Given the description of an element on the screen output the (x, y) to click on. 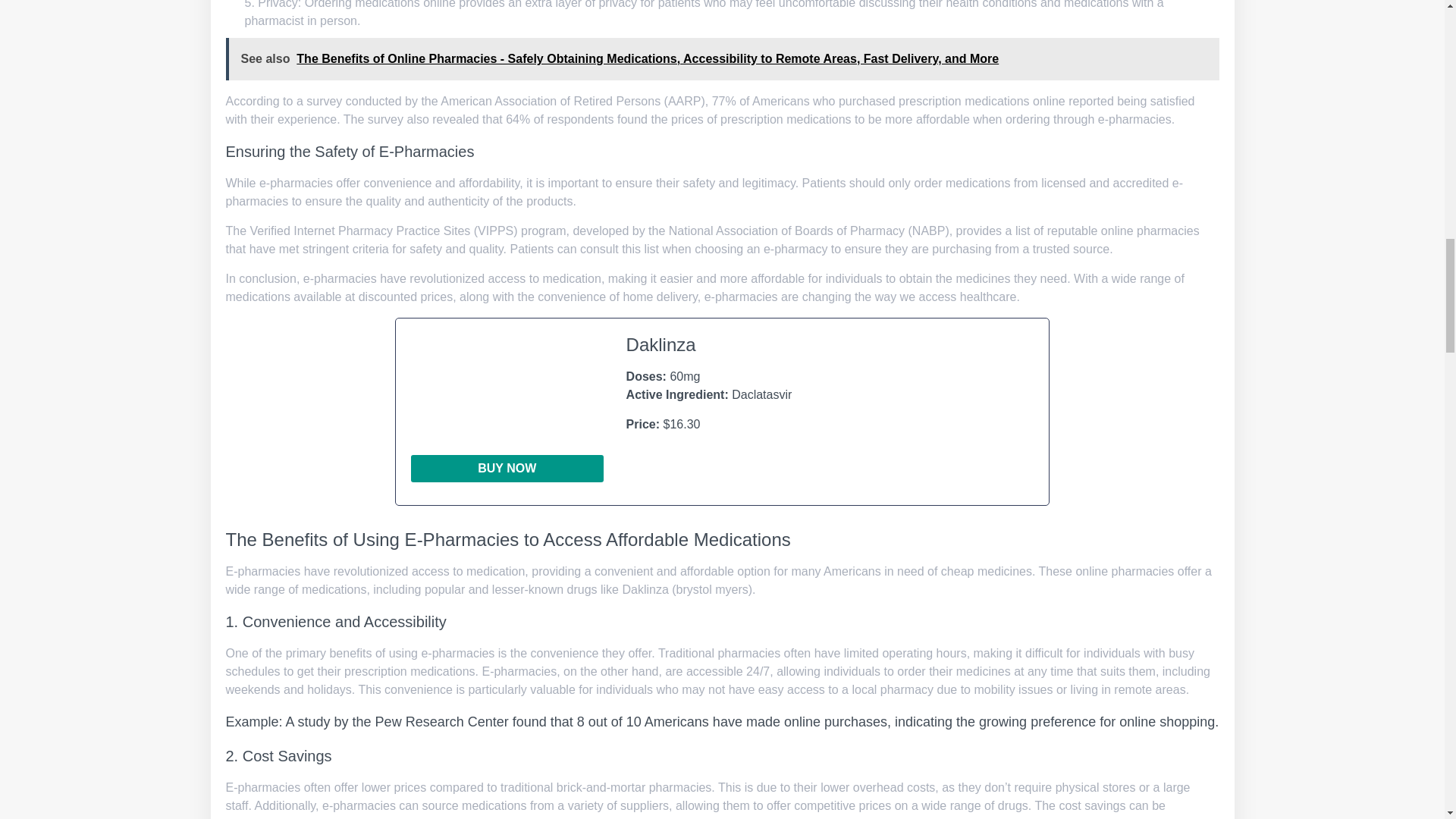
Buy Now (507, 468)
BUY NOW (507, 468)
